Given the description of an element on the screen output the (x, y) to click on. 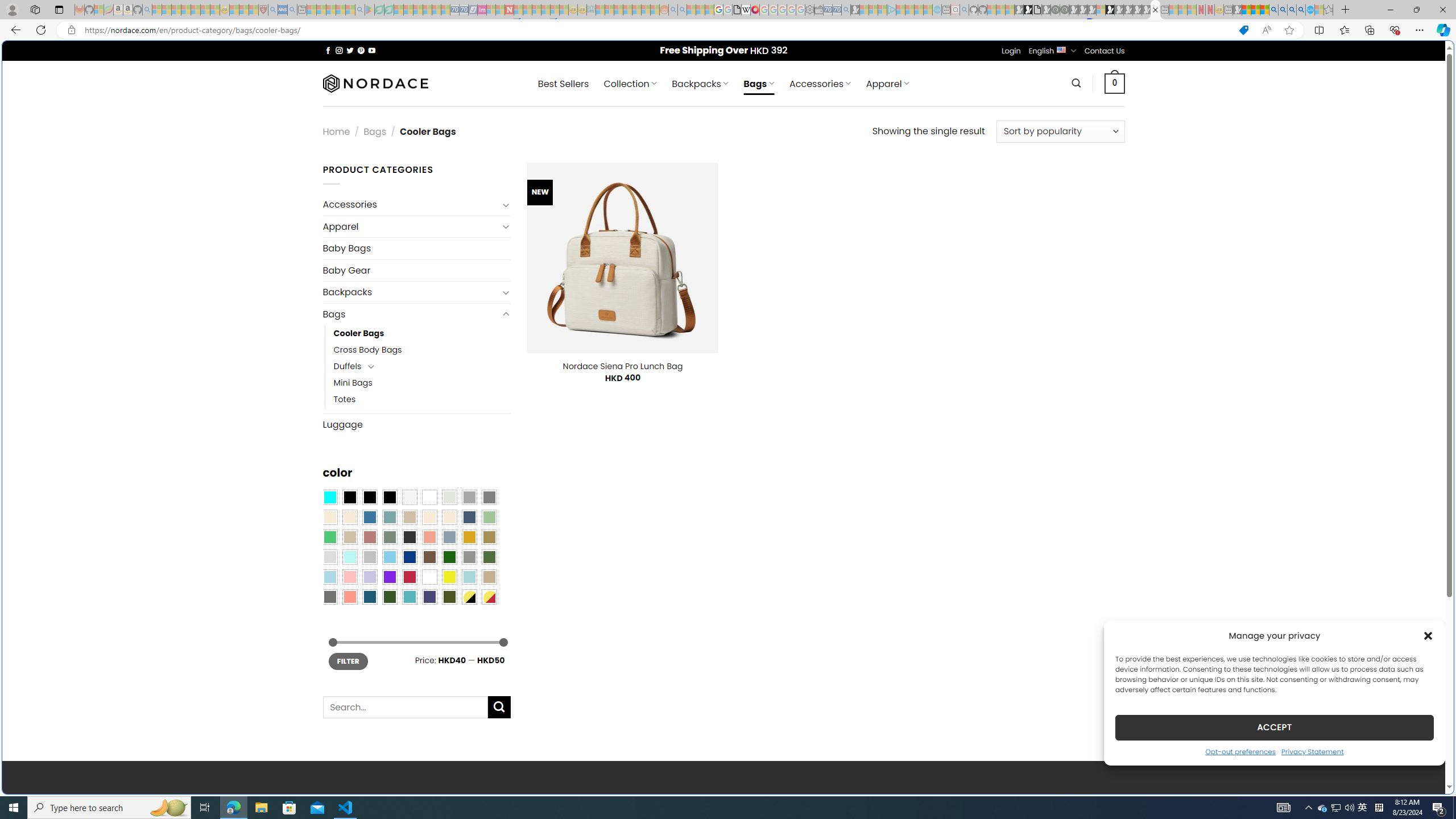
Baby Bags (416, 248)
Ash Gray (449, 497)
Totes (422, 398)
Search or enter web address (922, 108)
Cross Body Bags (422, 349)
Yellow-Black (468, 596)
